Given the description of an element on the screen output the (x, y) to click on. 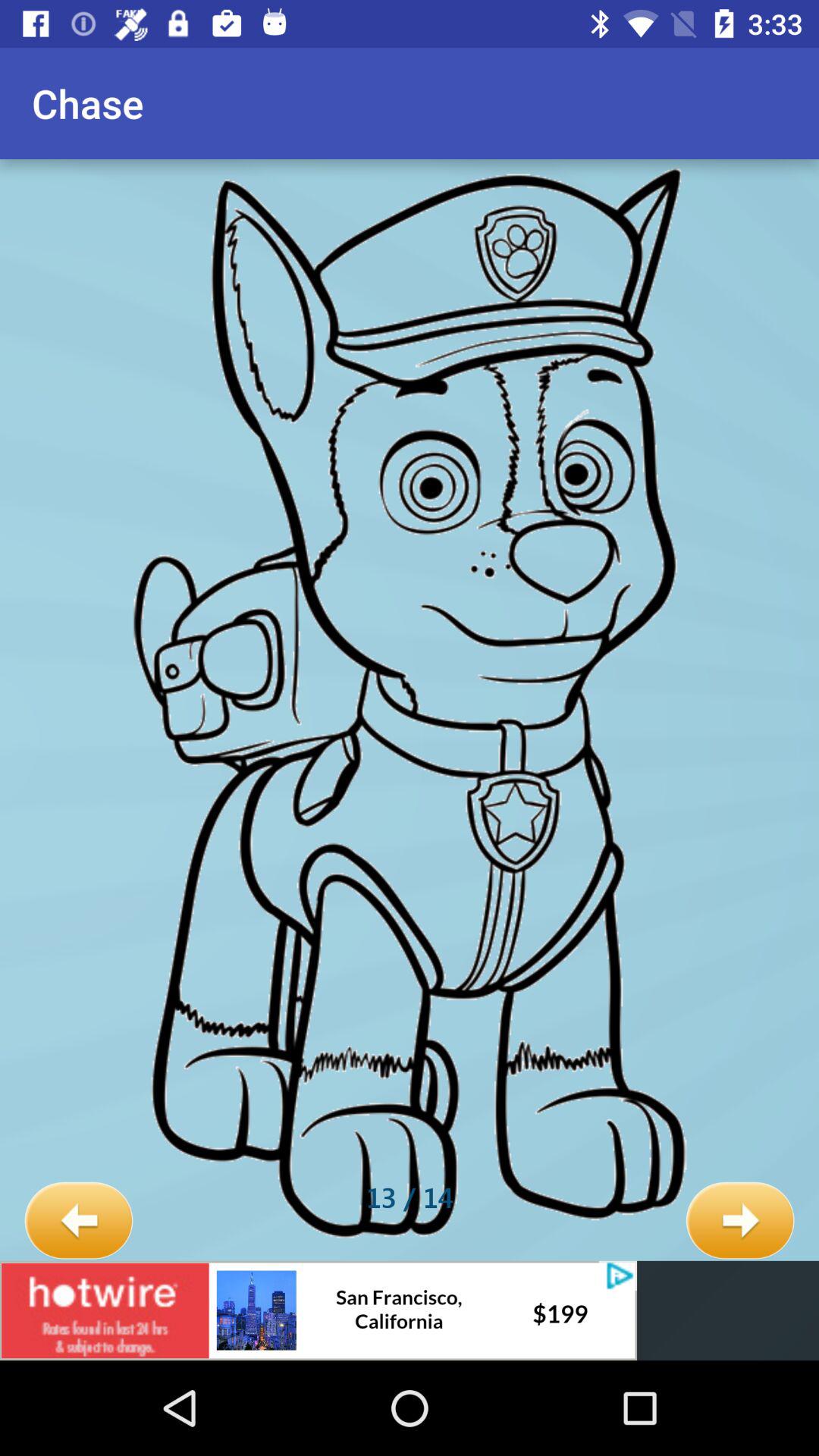
turn on the icon next to the 13 / 14 item (78, 1220)
